Given the description of an element on the screen output the (x, y) to click on. 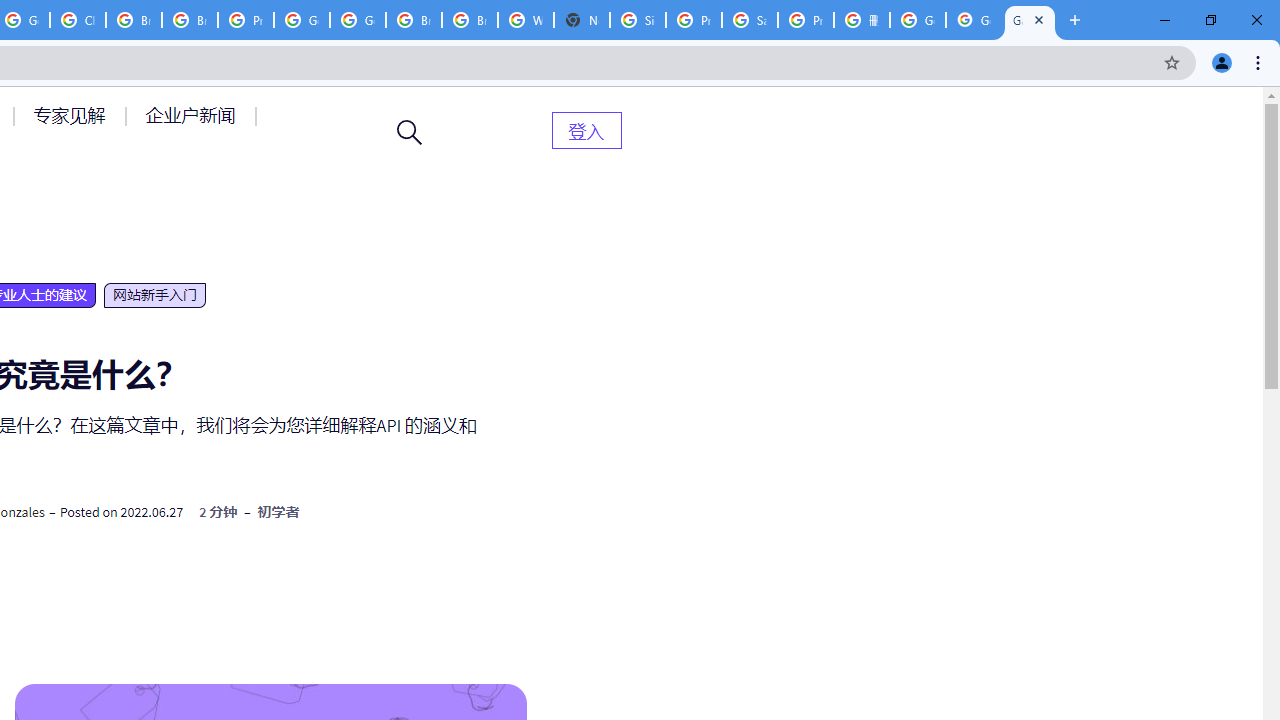
AutomationID: menu-item-82399 (586, 129)
AutomationID: menu-item-77764 (72, 115)
Open search form (410, 132)
Browse Chrome as a guest - Computer - Google Chrome Help (134, 20)
Browse Chrome as a guest - Computer - Google Chrome Help (469, 20)
